Given the description of an element on the screen output the (x, y) to click on. 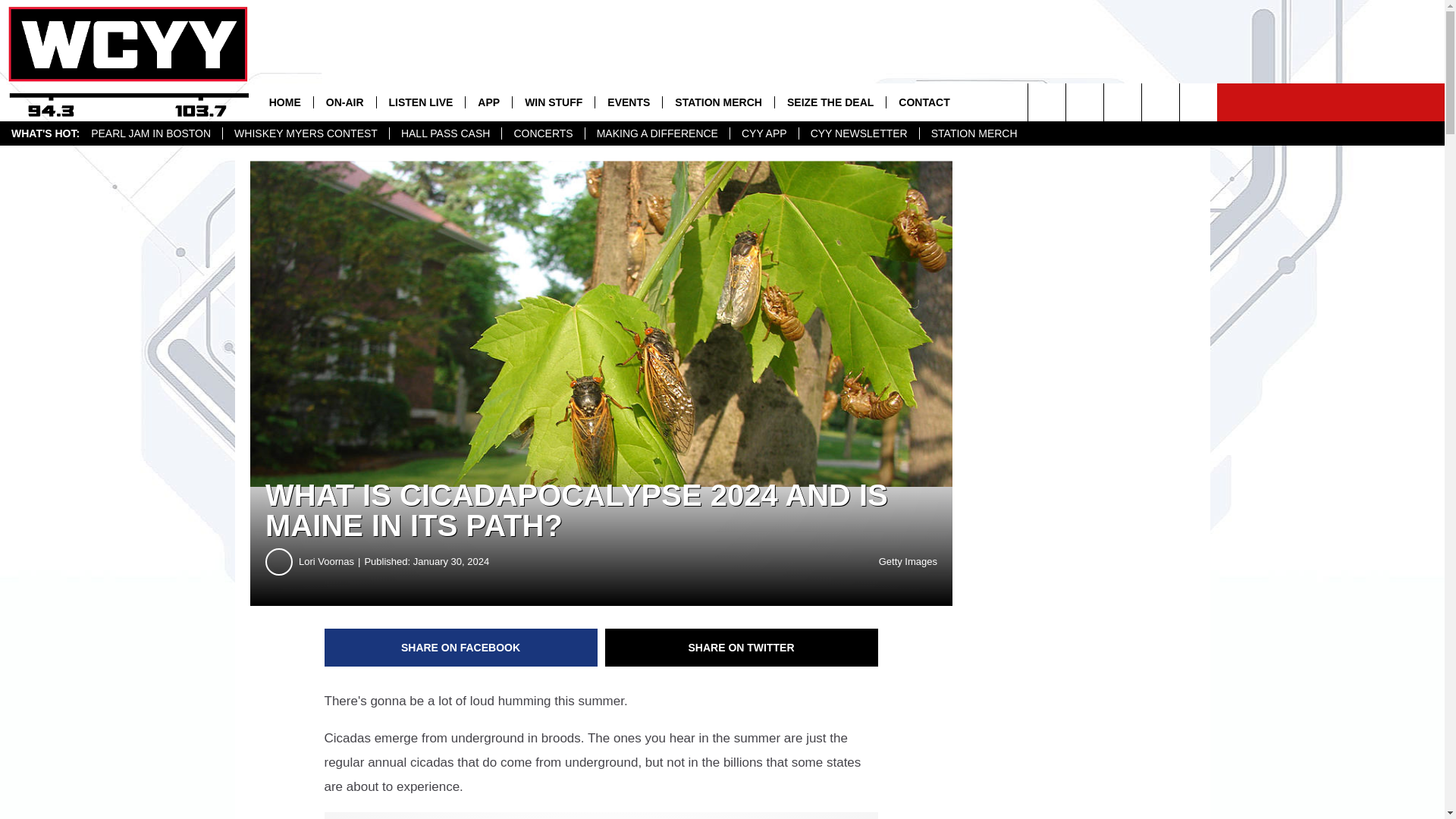
Share on Facebook (460, 647)
STATION MERCH (718, 102)
WIN STUFF (553, 102)
EVENTS (628, 102)
Share on Twitter (741, 647)
LISTEN LIVE (420, 102)
HOME (285, 102)
SEIZE THE DEAL (829, 102)
MAKING A DIFFERENCE (657, 133)
CONTACT (922, 102)
